Given the description of an element on the screen output the (x, y) to click on. 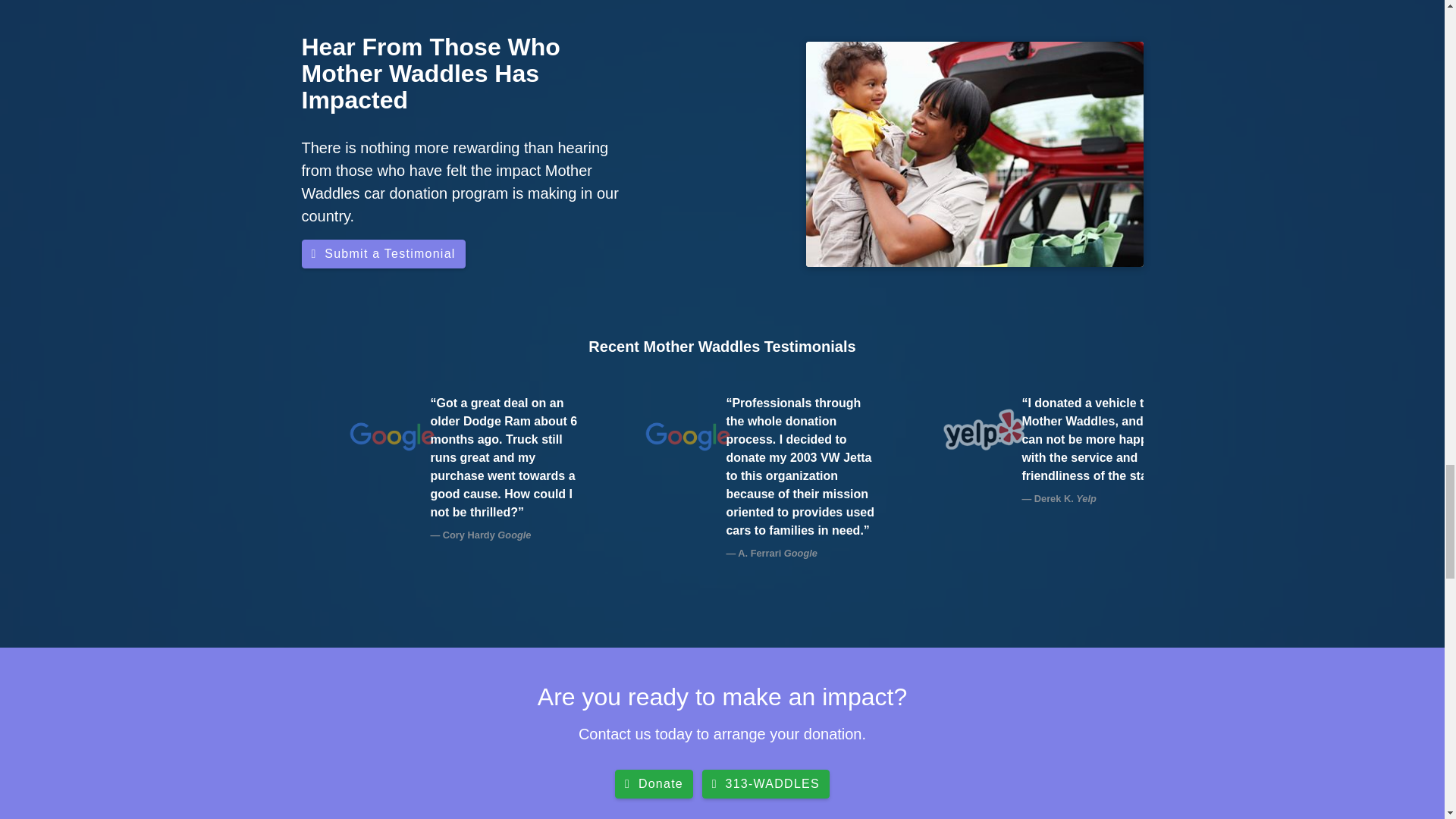
Submit a Testimonial (383, 253)
Donate (653, 783)
313-WADDLES (765, 783)
